Given the description of an element on the screen output the (x, y) to click on. 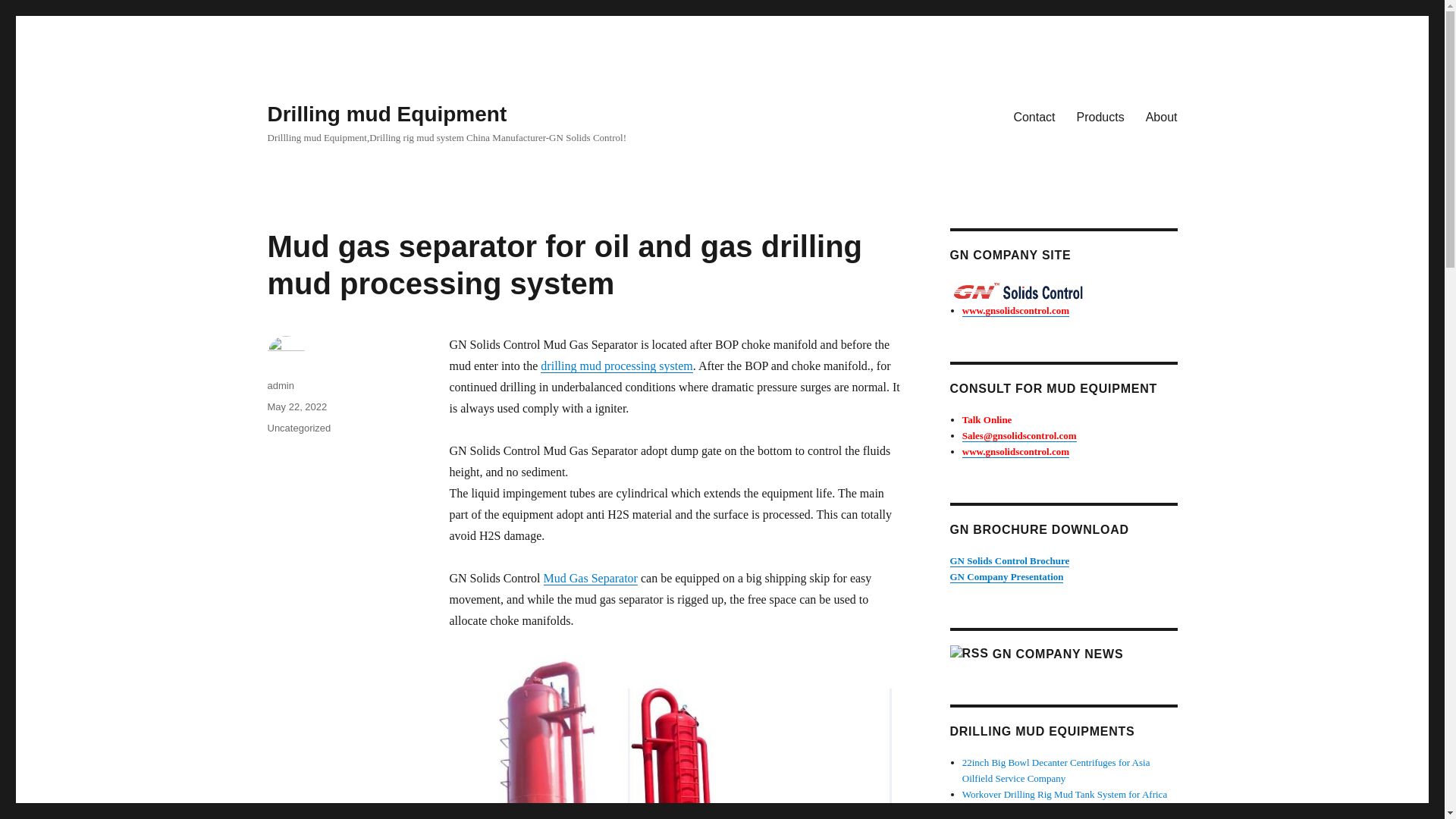
GN COMPANY NEWS (1057, 653)
About (1161, 116)
www.gnsolidscontrol.com (1015, 451)
GN Solids Control (1019, 291)
GN brochure (1008, 560)
GN Solids Control Brochure (1008, 560)
drilling mud processing system (616, 365)
GN Company Presentation (1005, 576)
Solids control Equipments (1062, 291)
